Given the description of an element on the screen output the (x, y) to click on. 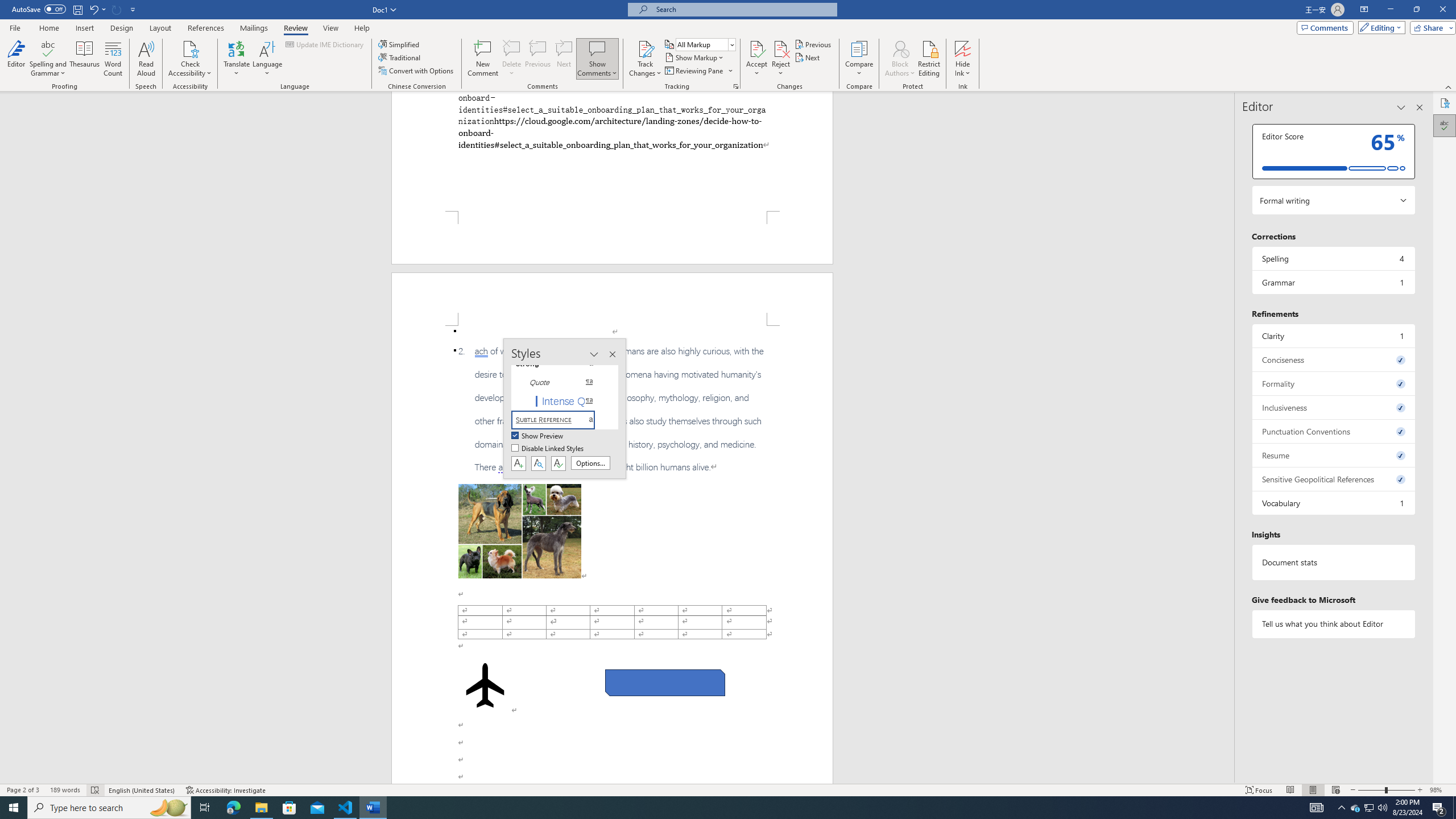
Track Changes (644, 48)
Subtle Reference (559, 419)
Reject and Move to Next (780, 48)
Show Comments (597, 48)
Accept (756, 58)
Editor Score 65% (1333, 151)
Delete (511, 48)
New Comment (482, 58)
Document statistics (1333, 561)
Block Authors (900, 58)
